Given the description of an element on the screen output the (x, y) to click on. 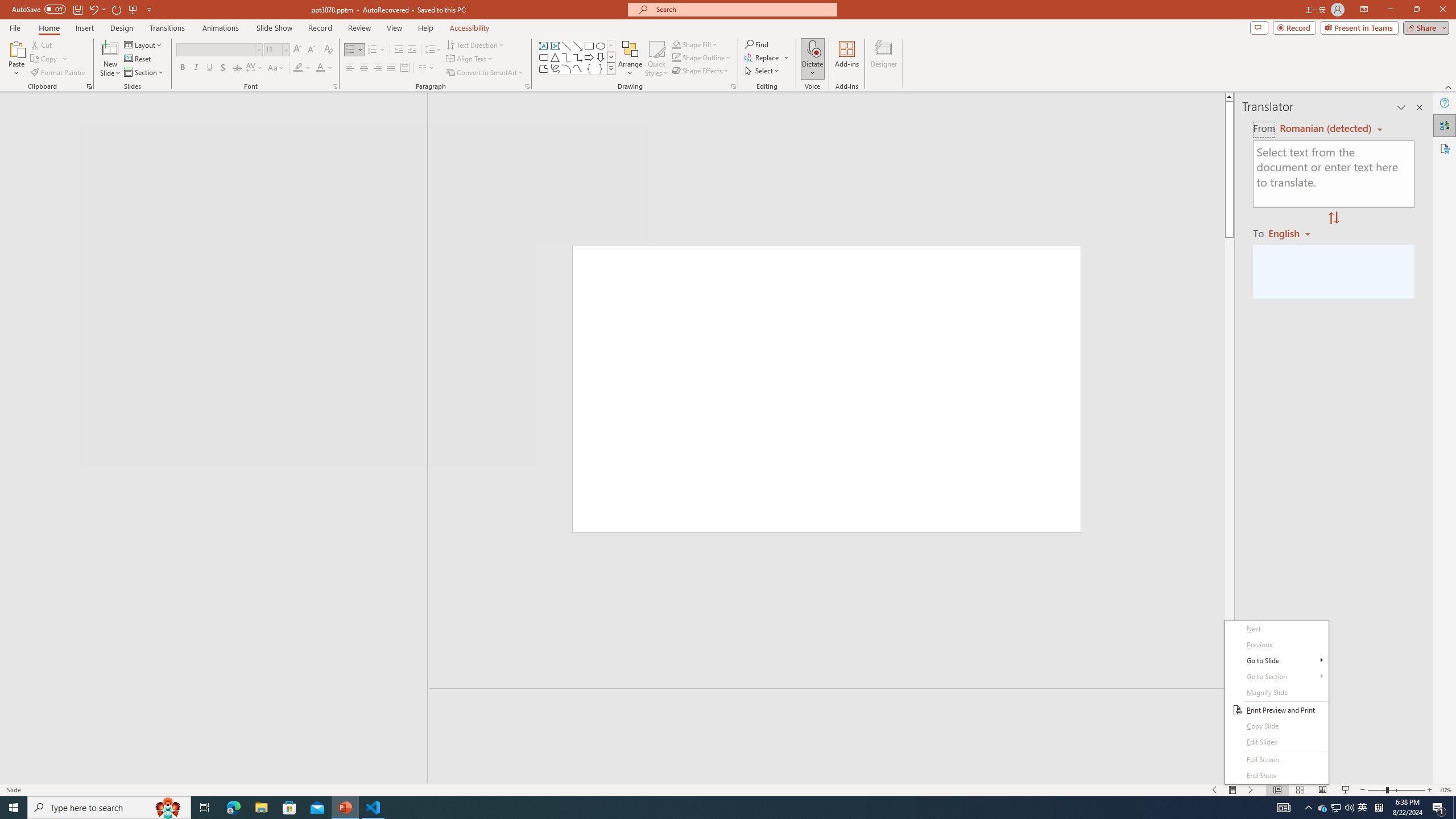
Justify (390, 67)
Romanian (1293, 232)
Strikethrough (237, 67)
Underline (209, 67)
Connector: Elbow (566, 57)
Shape Outline (701, 56)
